Given the description of an element on the screen output the (x, y) to click on. 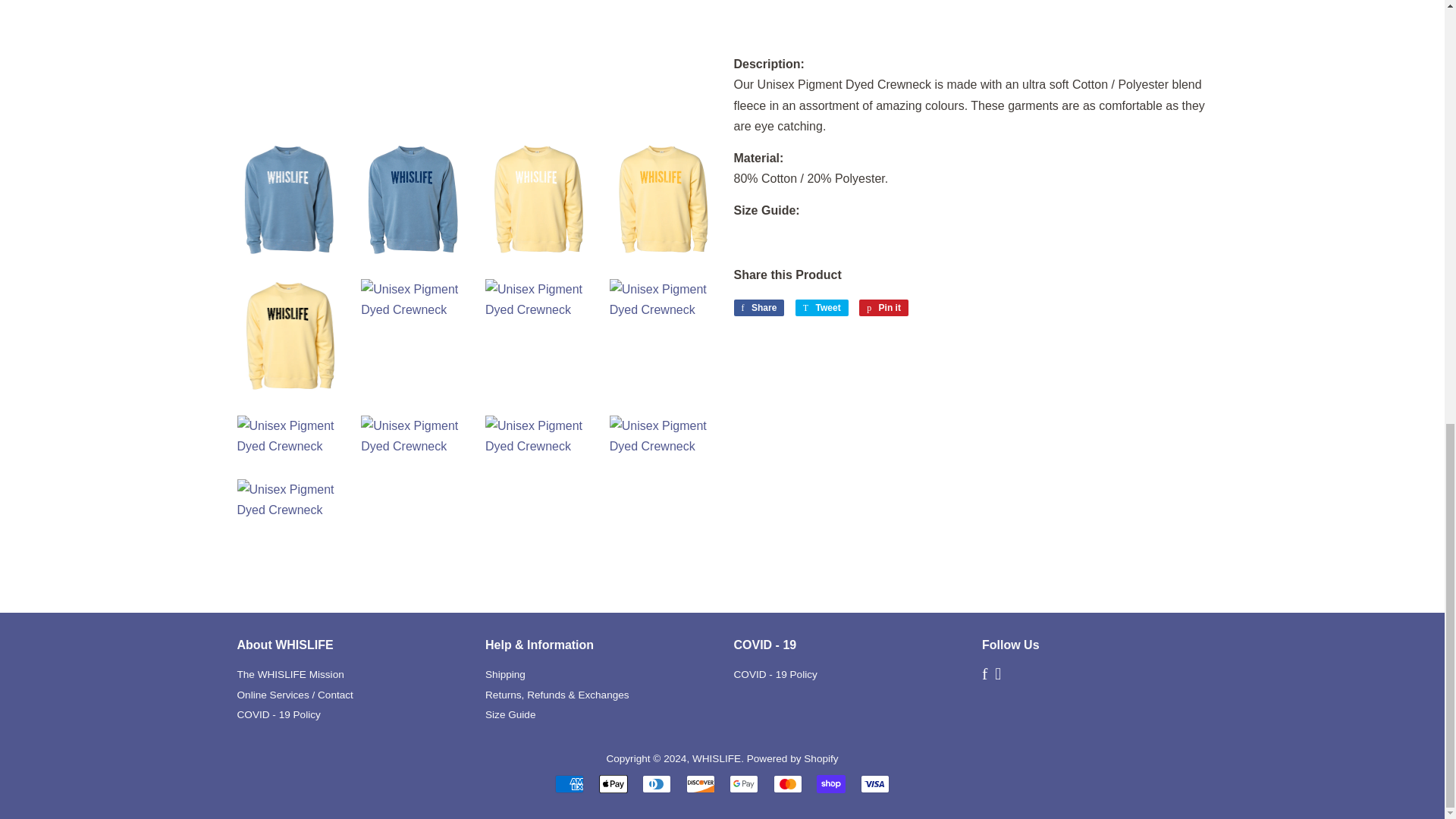
Shop Pay (830, 783)
Apple Pay (612, 783)
Share on Facebook (758, 307)
Tweet on Twitter (821, 307)
Discover (699, 783)
American Express (568, 783)
Diners Club (656, 783)
Mastercard (787, 783)
Google Pay (743, 783)
Visa (874, 783)
